Given the description of an element on the screen output the (x, y) to click on. 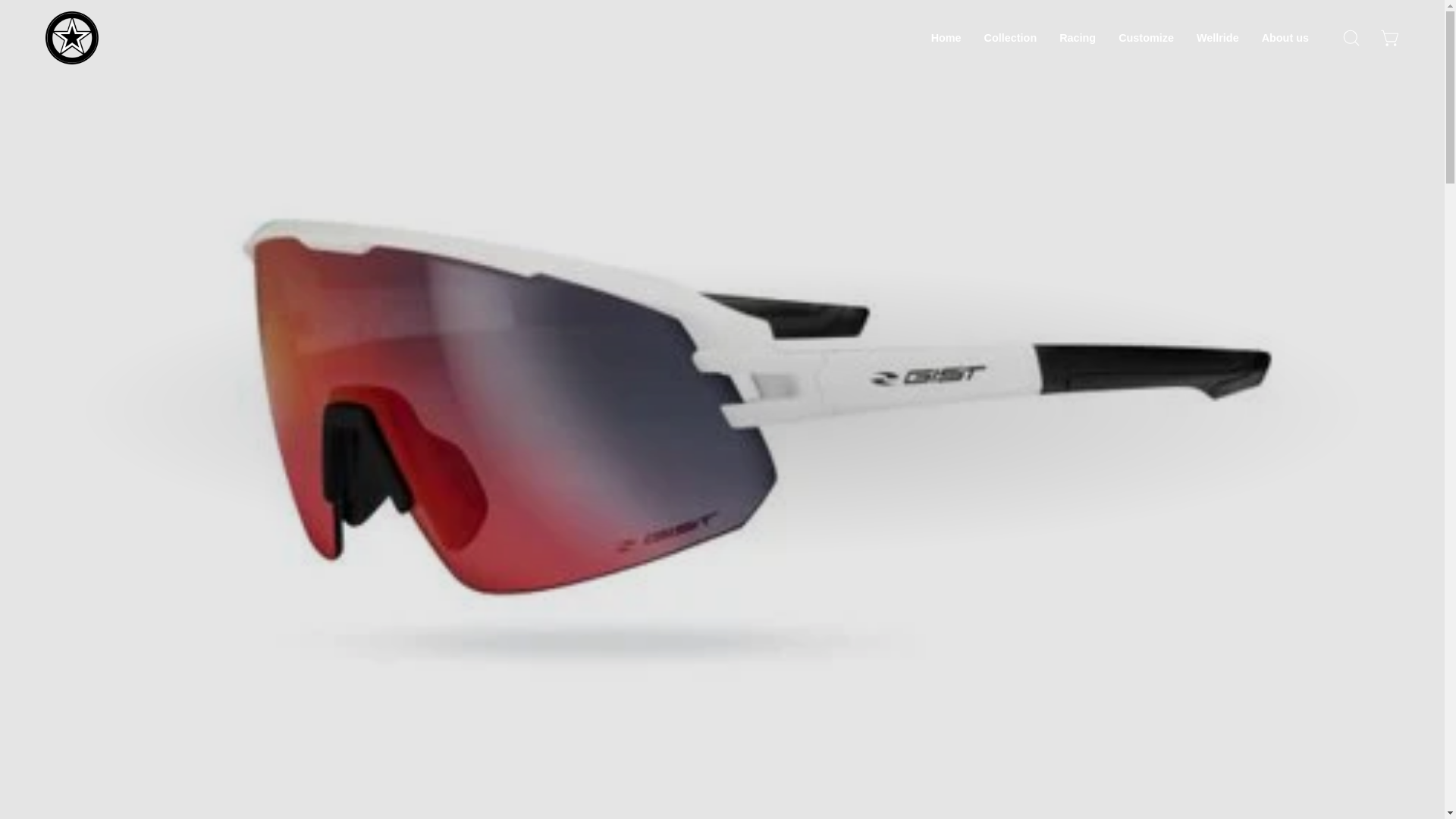
Apri la barra di ricerca (1351, 38)
